Given the description of an element on the screen output the (x, y) to click on. 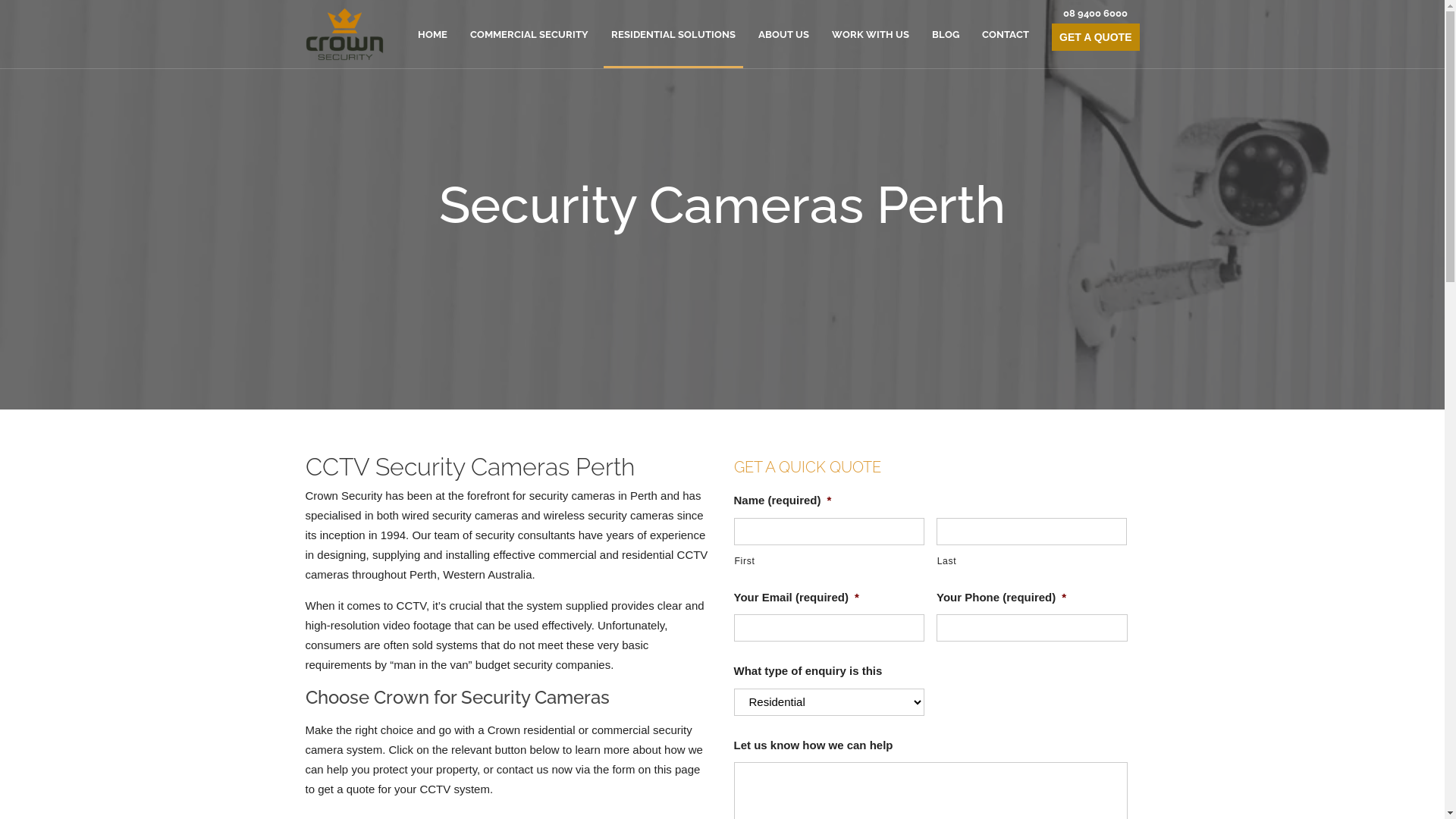
ABOUT US Element type: text (783, 34)
COMMERCIAL SECURITY Element type: text (529, 34)
commercial Element type: text (567, 554)
08 9400 6000 Element type: text (1095, 13)
RESIDENTIAL SOLUTIONS Element type: text (673, 34)
WORK WITH US Element type: text (870, 34)
BLOG Element type: text (945, 34)
HOME Element type: text (432, 34)
GET A QUOTE Element type: text (1095, 36)
CONTACT Element type: text (1005, 34)
residential Element type: text (647, 554)
